Given the description of an element on the screen output the (x, y) to click on. 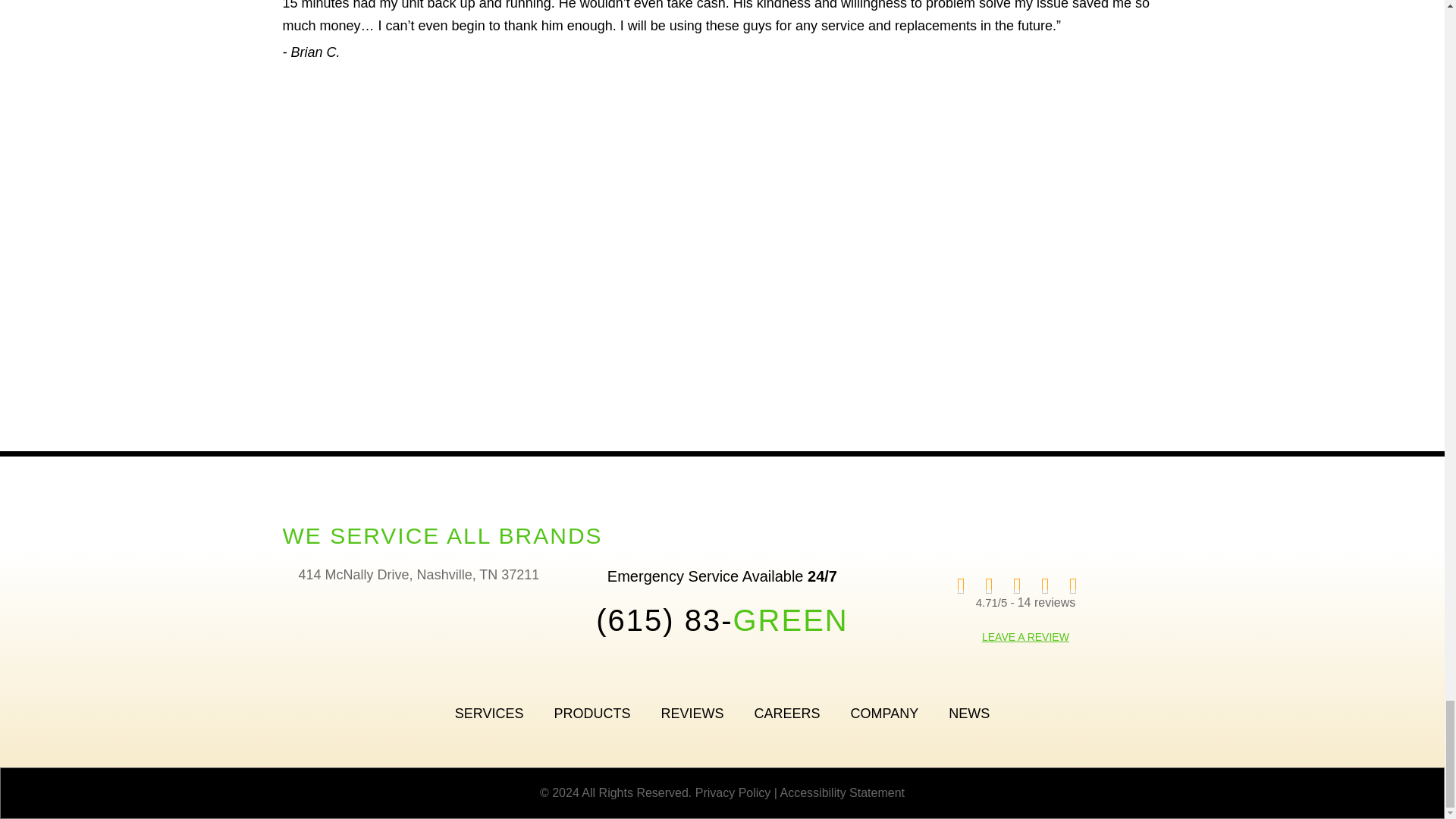
ACN Logo-RGB (895, 445)
greentruck-text (722, 283)
